Given the description of an element on the screen output the (x, y) to click on. 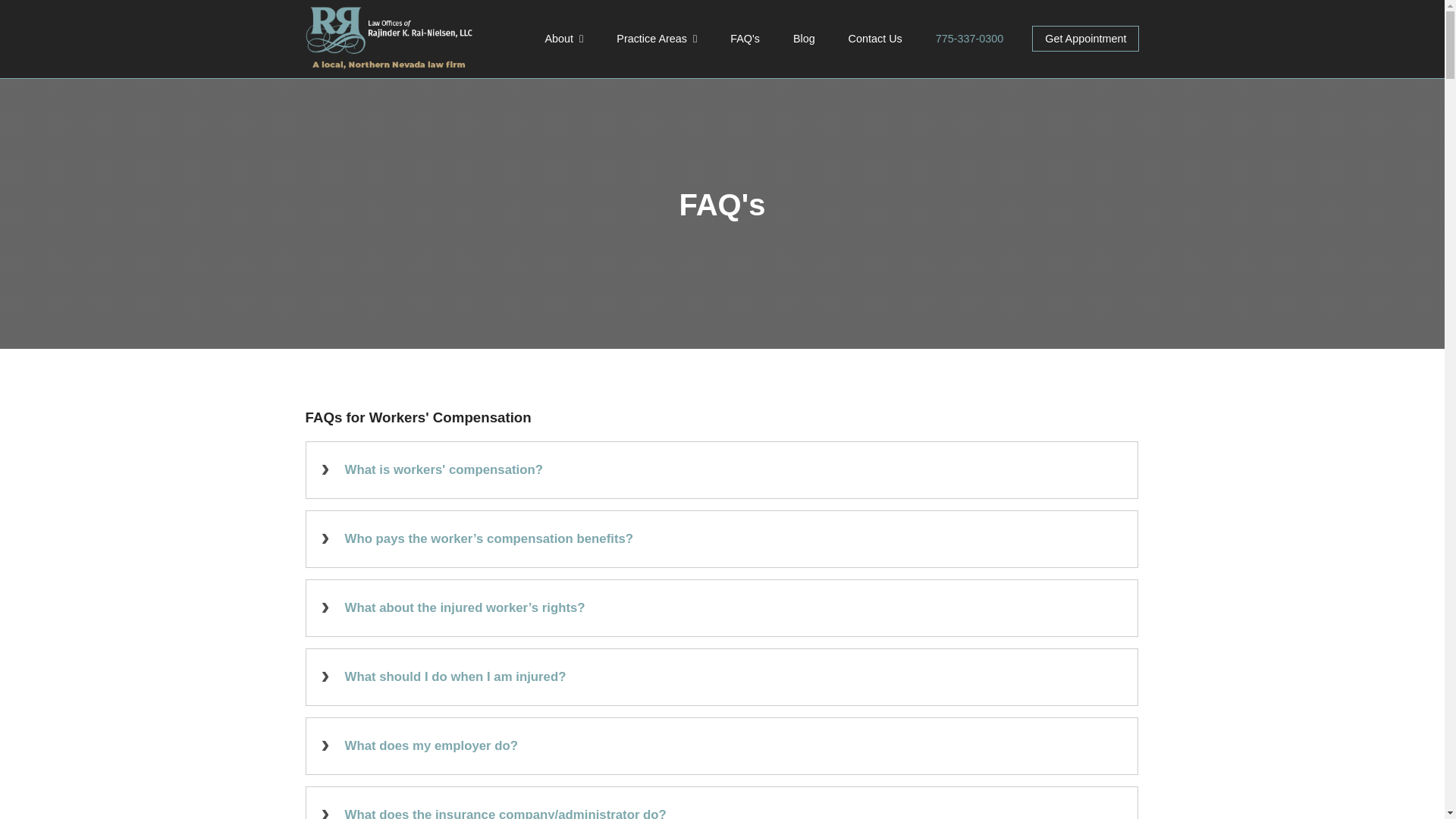
Blog (803, 38)
Get Appointment (1085, 38)
About   (563, 38)
FAQ's (744, 38)
Contact Us (874, 38)
Practice Areas   (656, 38)
775-337-0300 (969, 38)
